Given the description of an element on the screen output the (x, y) to click on. 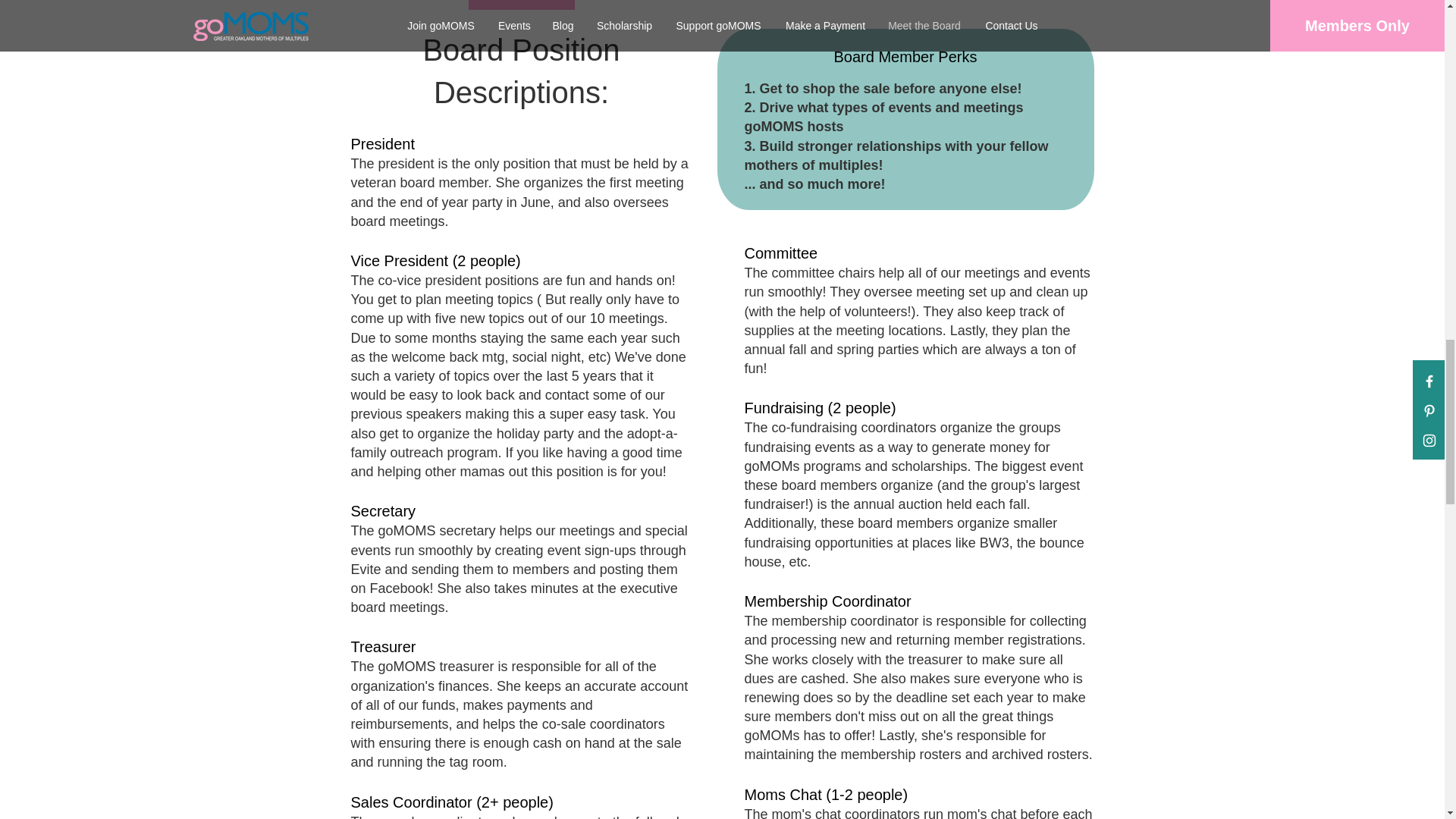
Email Amanda (521, 4)
